Given the description of an element on the screen output the (x, y) to click on. 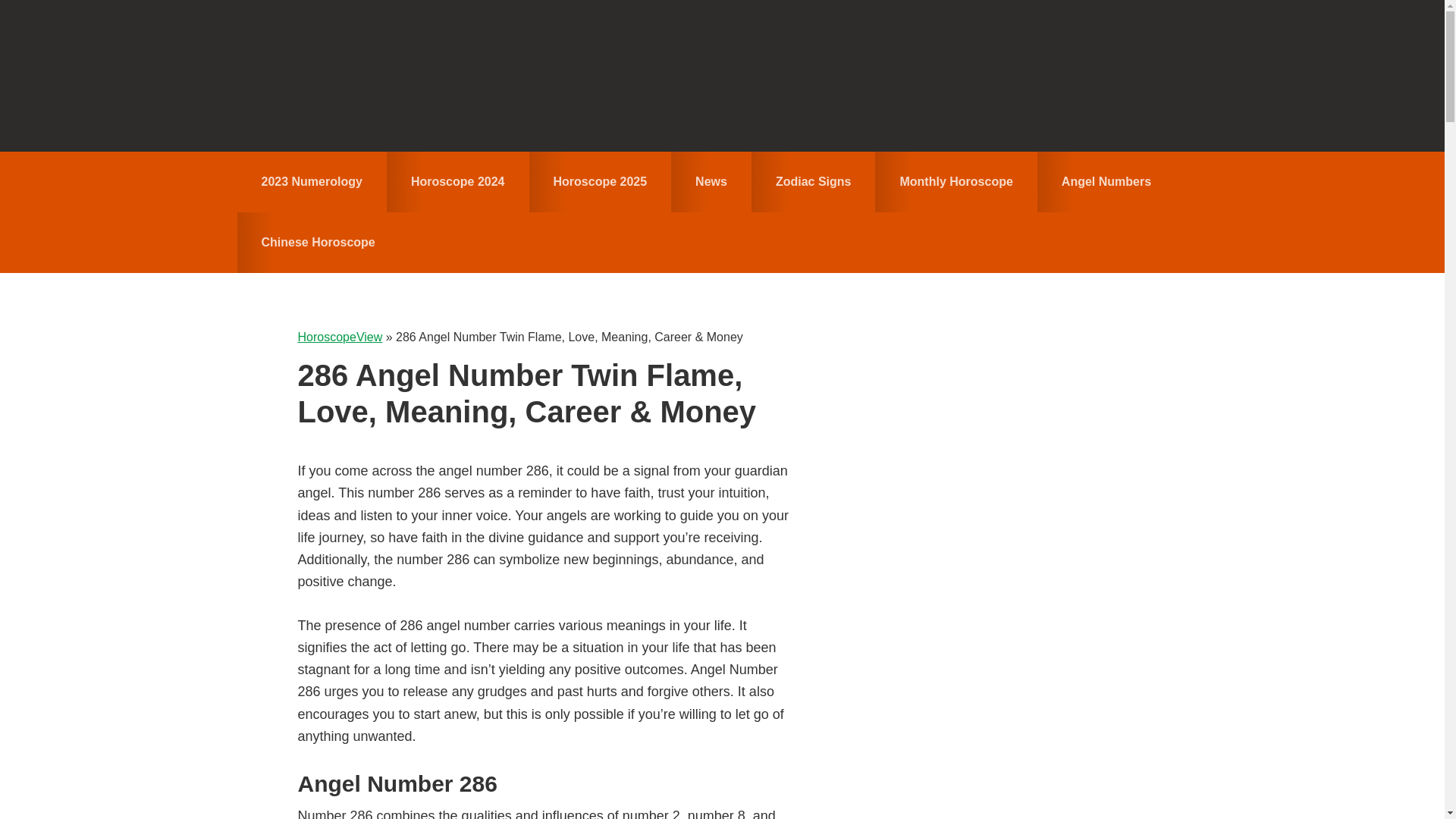
Zodiac Signs (813, 181)
HoroscopeView (339, 336)
News (711, 181)
Monthly Horoscope (955, 181)
Horoscope 2025 (600, 181)
Angel Numbers (1105, 181)
HoroscopeView (722, 75)
Chinese Horoscope (316, 242)
Horoscope 2024 (458, 181)
2023 Numerology (310, 181)
